Given the description of an element on the screen output the (x, y) to click on. 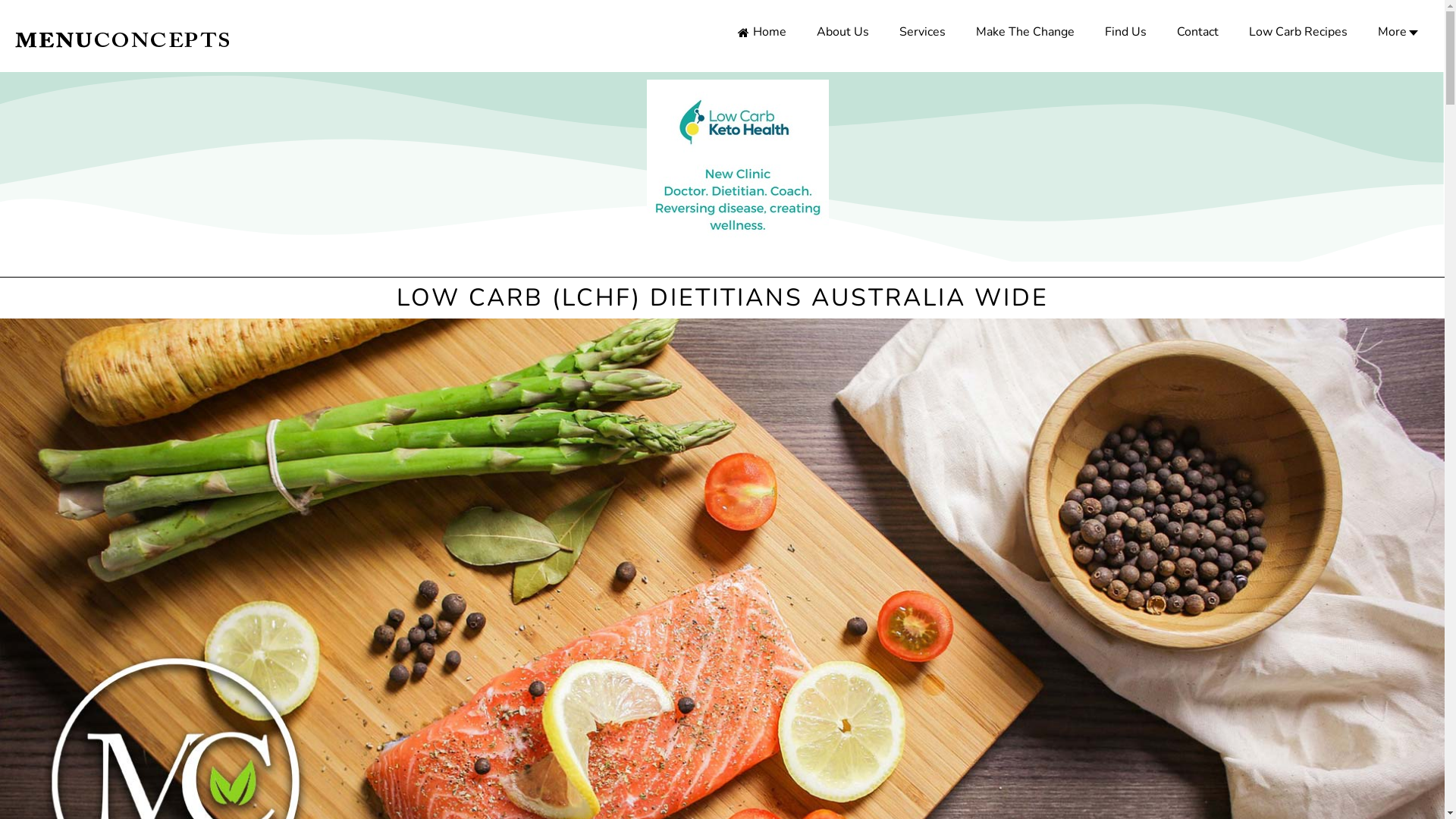
Home Element type: text (761, 32)
About Us Element type: text (842, 32)
Low Carb Recipes Element type: text (1297, 32)
Make The Change Element type: text (1024, 32)
Find Us Element type: text (1125, 32)
Contact Element type: text (1197, 32)
Services Element type: text (922, 32)
